Given the description of an element on the screen output the (x, y) to click on. 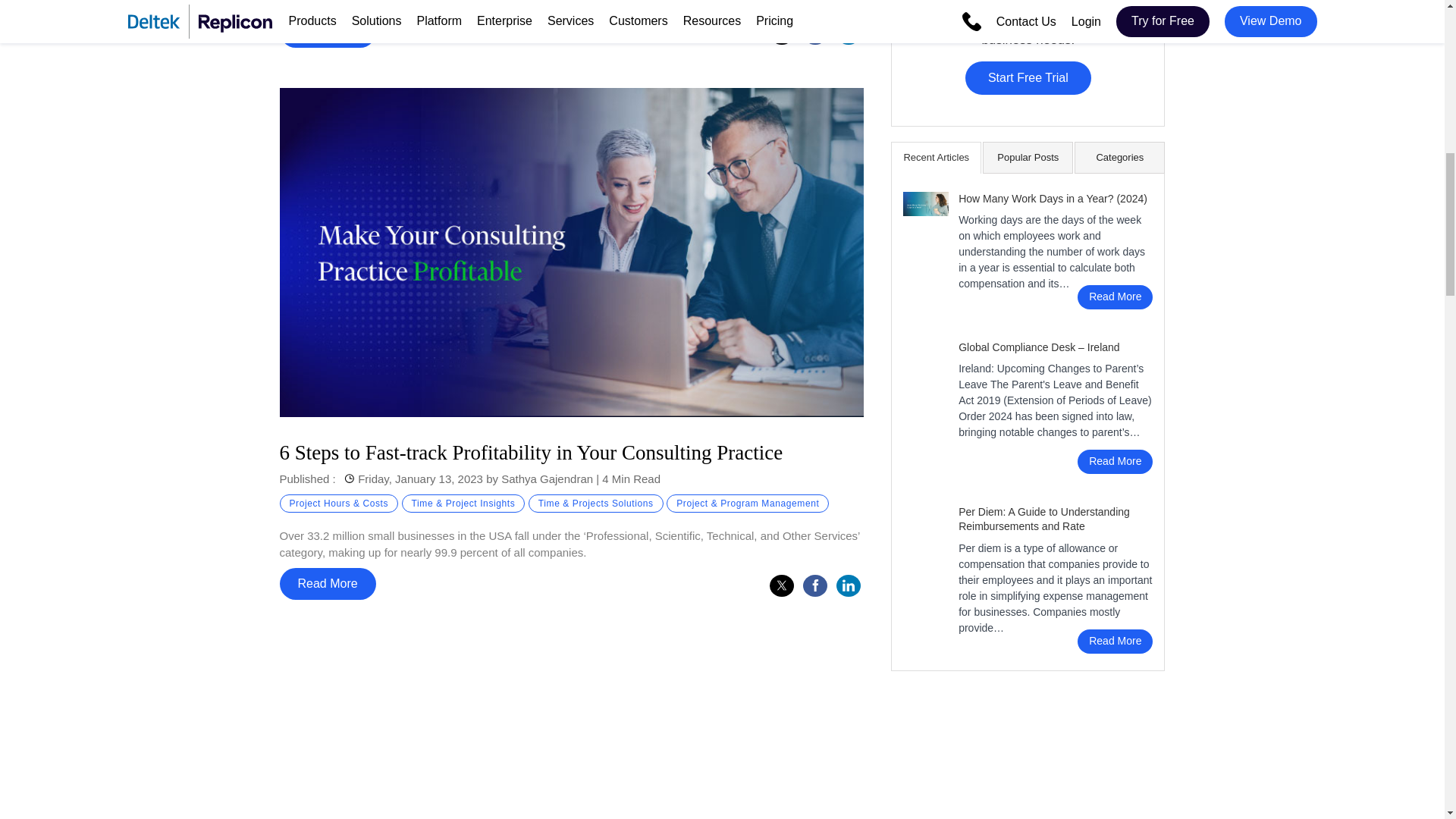
Share on Facebook (815, 585)
Share on LinkedIn (847, 585)
Share on Facebook (815, 33)
Share on X (781, 33)
Share on LinkedIn (847, 33)
A Guide to Resource Forecasting (571, 807)
Share on X (781, 585)
